Given the description of an element on the screen output the (x, y) to click on. 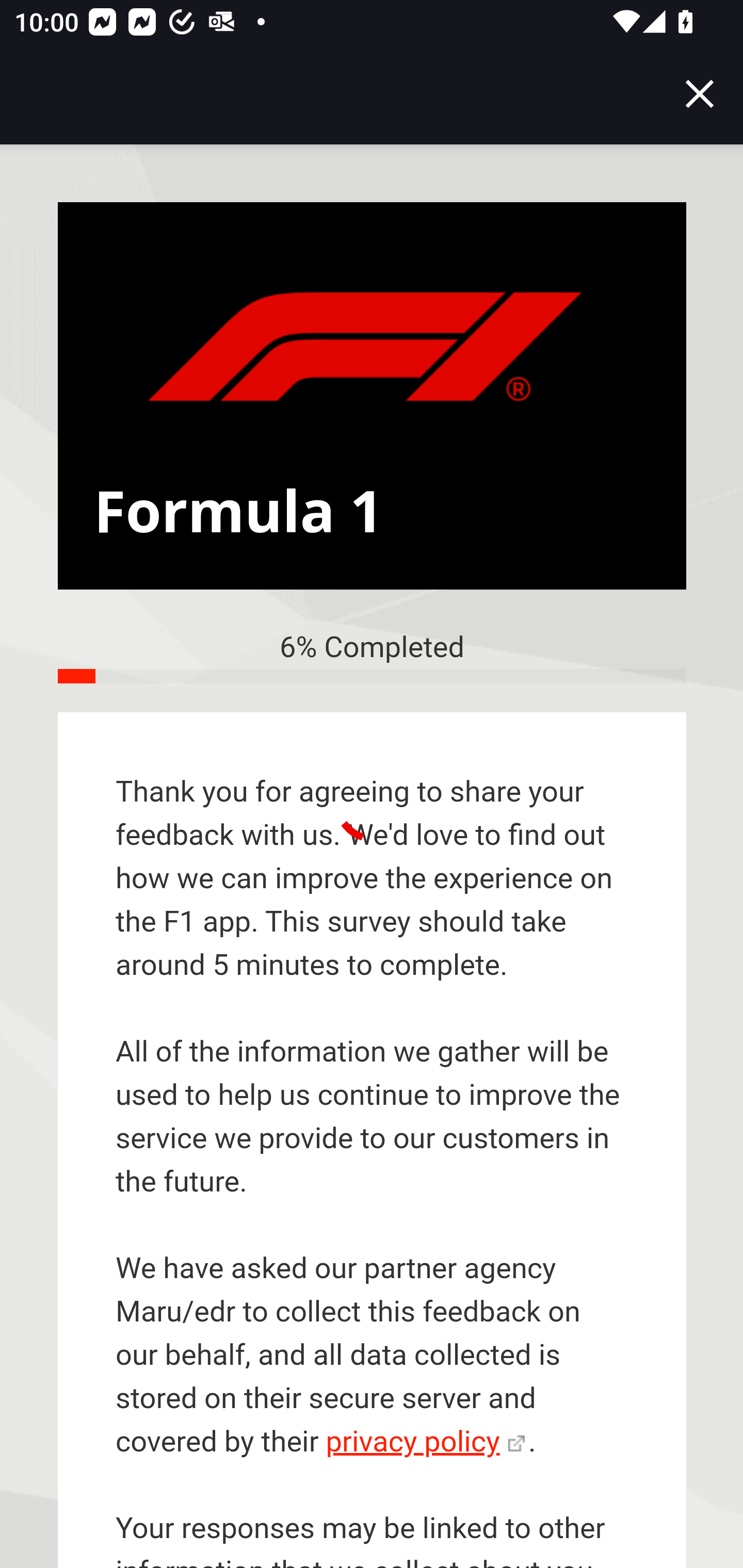
Close (699, 93)
privacy policy  privacy policy    (425, 1441)
